Given the description of an element on the screen output the (x, y) to click on. 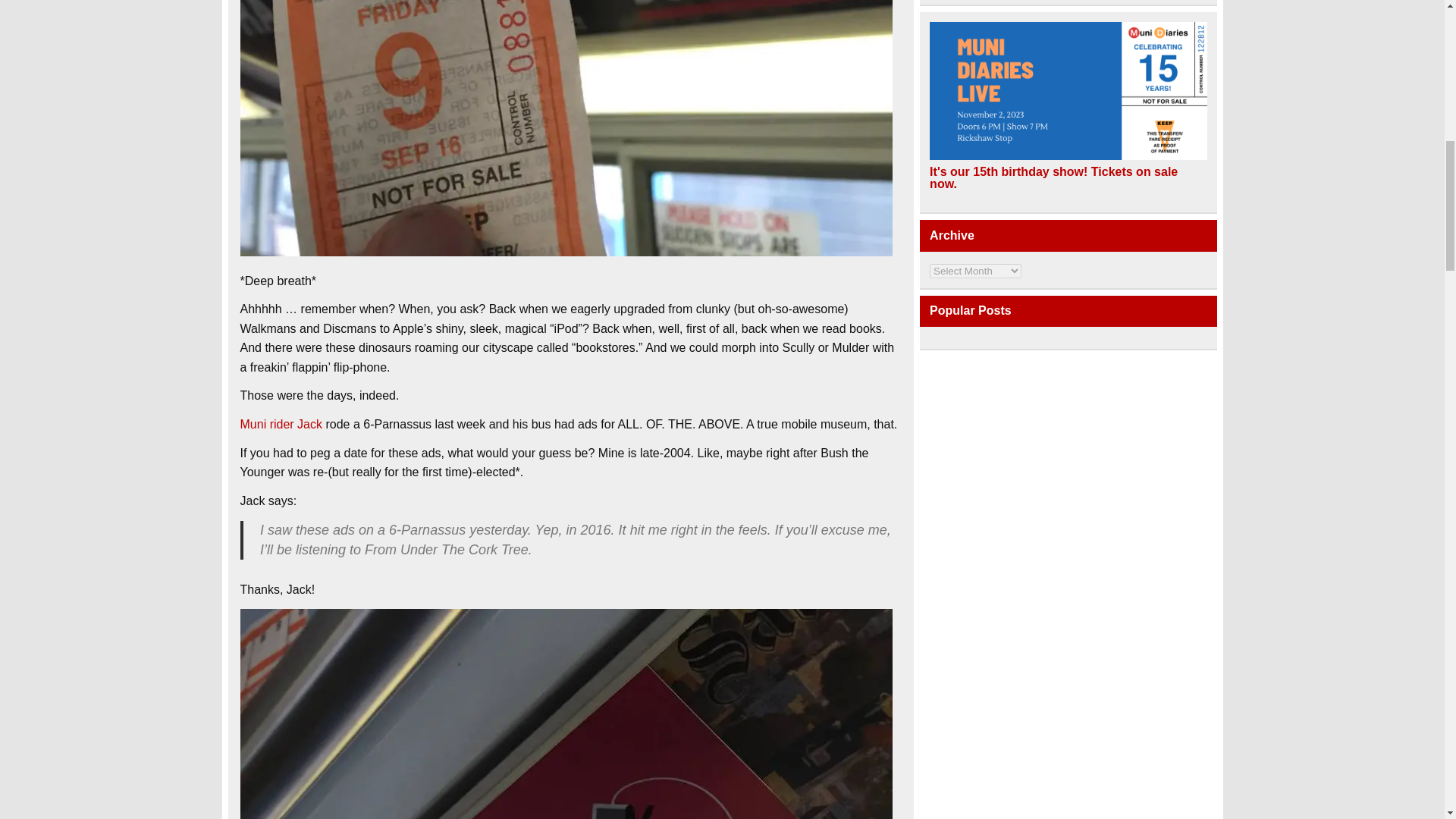
Muni rider Jack (280, 423)
